Given the description of an element on the screen output the (x, y) to click on. 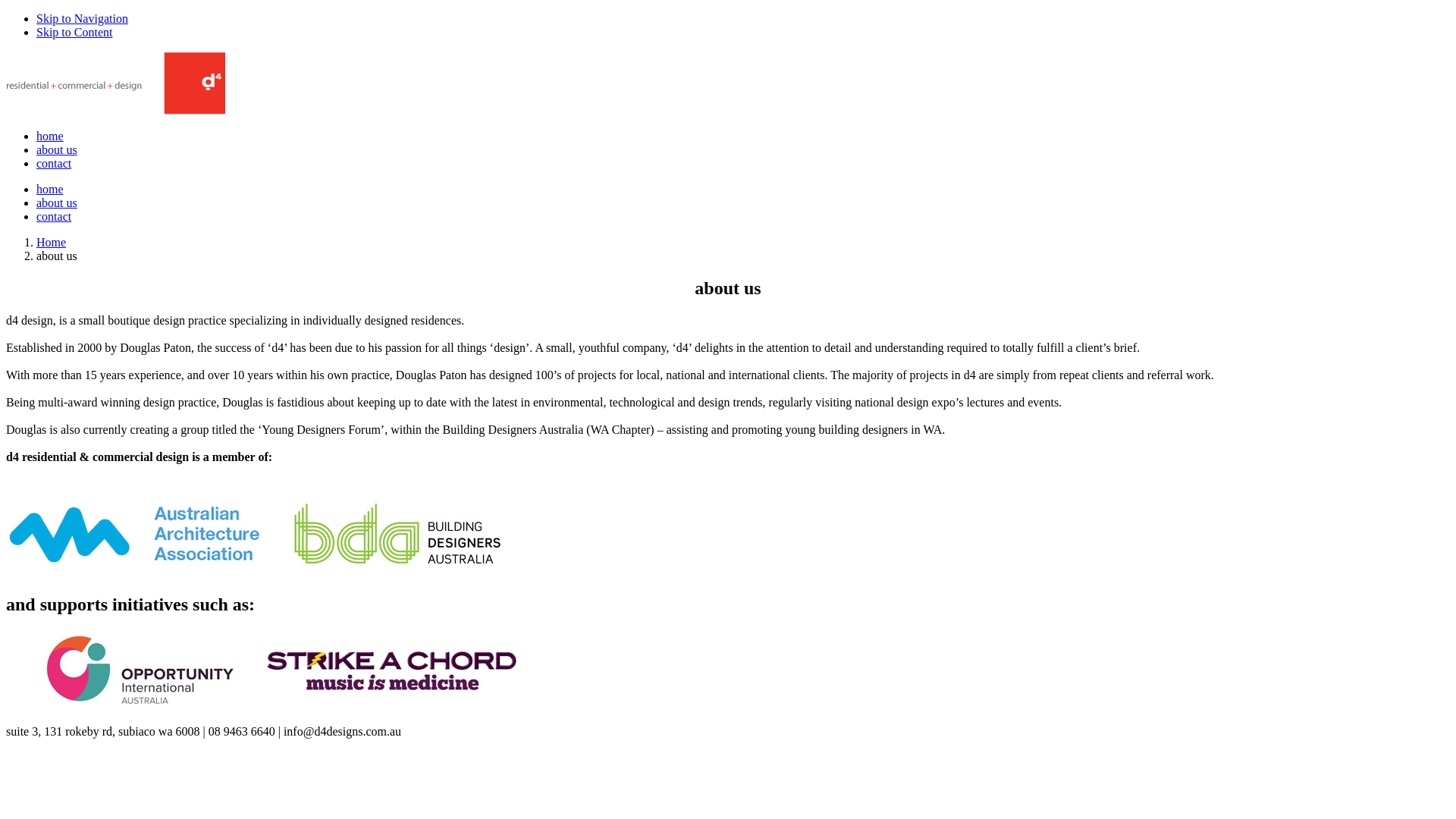
Skip to Content Element type: text (74, 31)
building_designers_australia-(1).jpg Element type: hover (392, 670)
contact Element type: text (53, 216)
Skip to Navigation Element type: text (82, 18)
about us Element type: text (56, 149)
contact Element type: text (53, 162)
home Element type: text (49, 188)
building_designers_australia-(1).jpg Element type: hover (392, 534)
australian_architecture_association-(1).jpg Element type: hover (134, 534)
home Element type: text (49, 135)
australian_architecture_association-(1).jpg Element type: hover (134, 670)
about us Element type: text (56, 202)
Home Element type: text (50, 241)
